Given the description of an element on the screen output the (x, y) to click on. 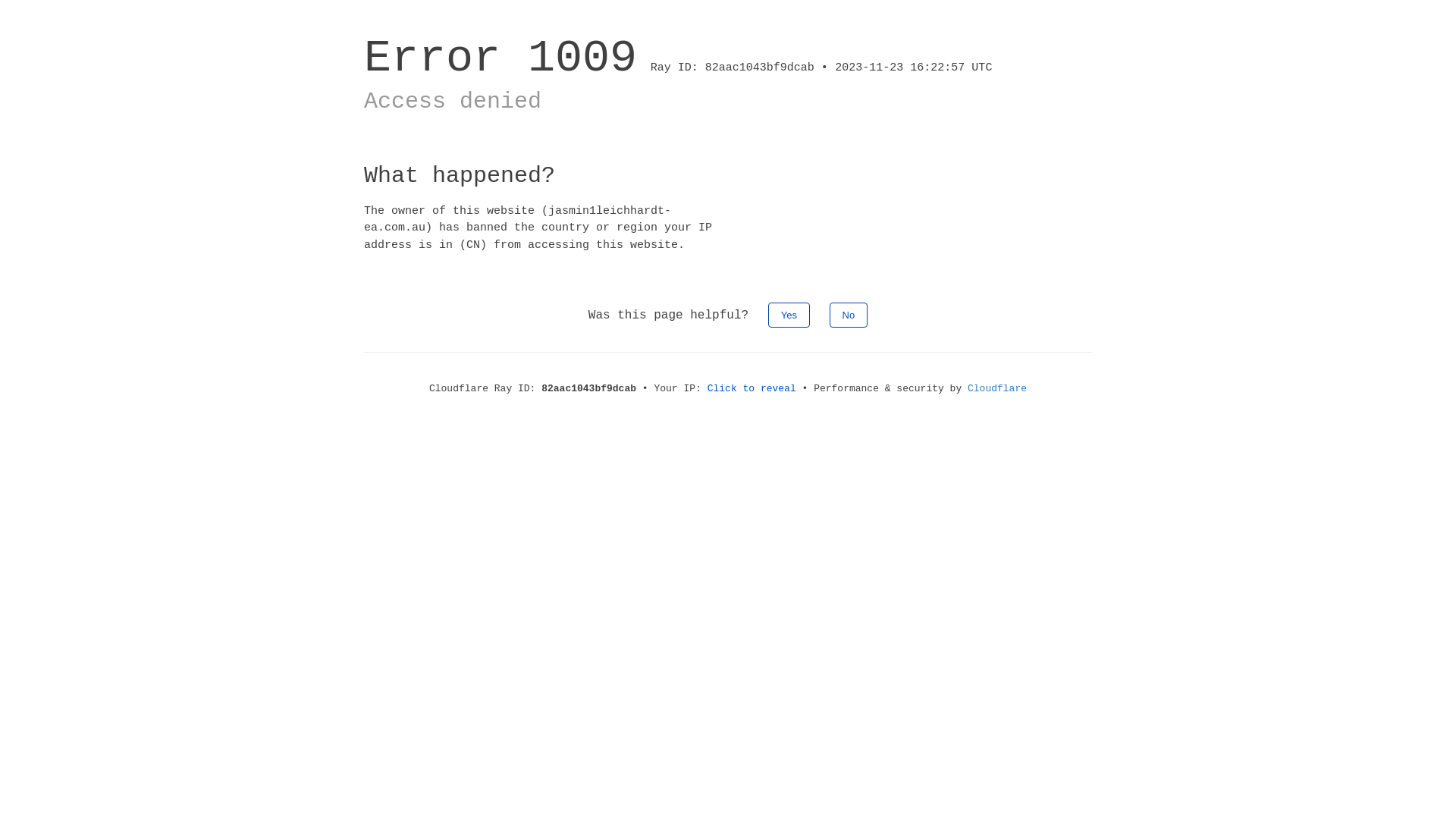
Click to reveal Element type: text (751, 388)
Yes Element type: text (788, 314)
Cloudflare Element type: text (996, 388)
No Element type: text (848, 314)
